Given the description of an element on the screen output the (x, y) to click on. 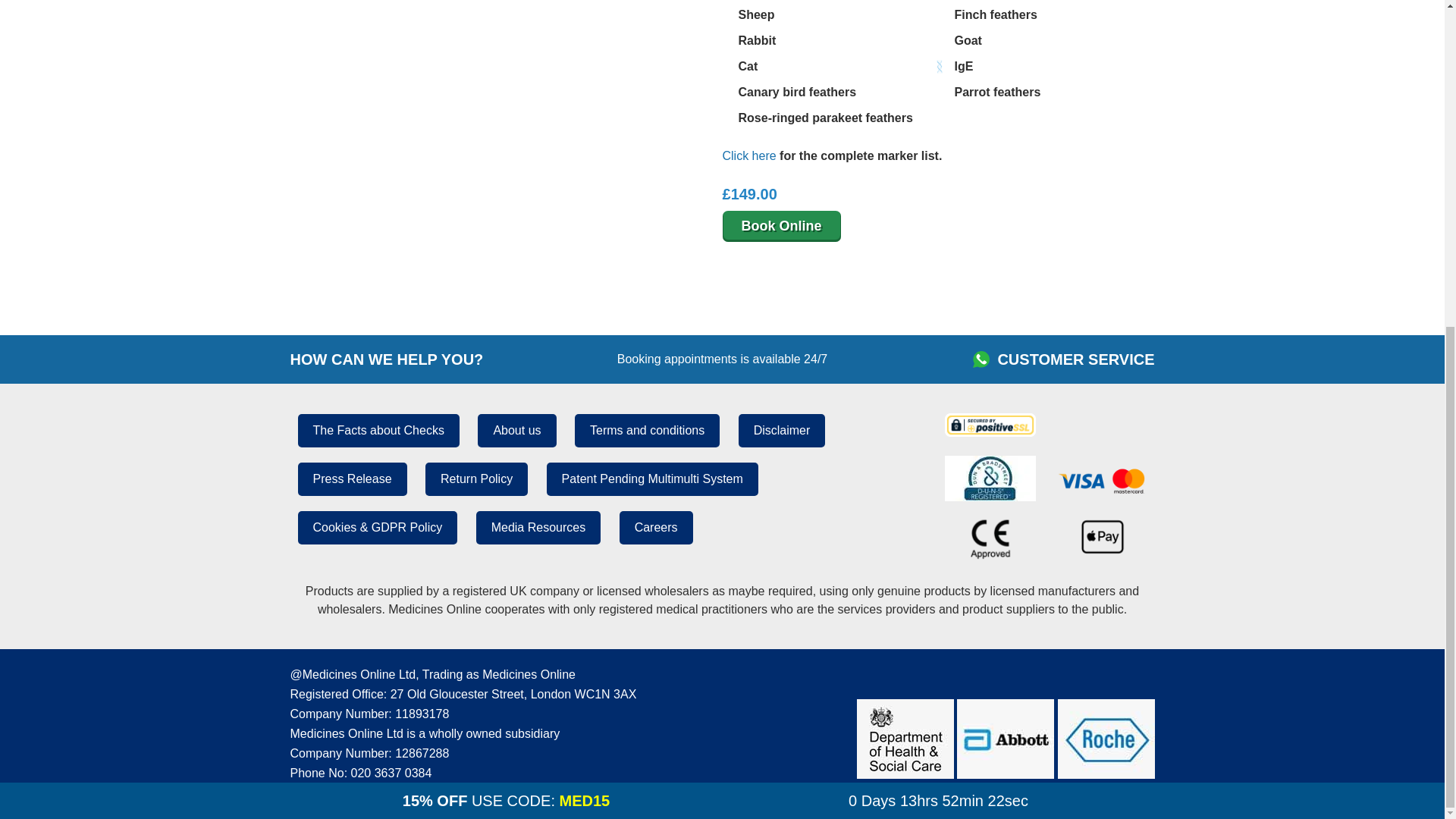
Book Online (781, 225)
t-14-i-134936 (942, 14)
Click here (749, 155)
t-13-i-134936 (727, 14)
CUSTOMER SERVICE (1075, 359)
The Facts about Checks (377, 430)
